Given the description of an element on the screen output the (x, y) to click on. 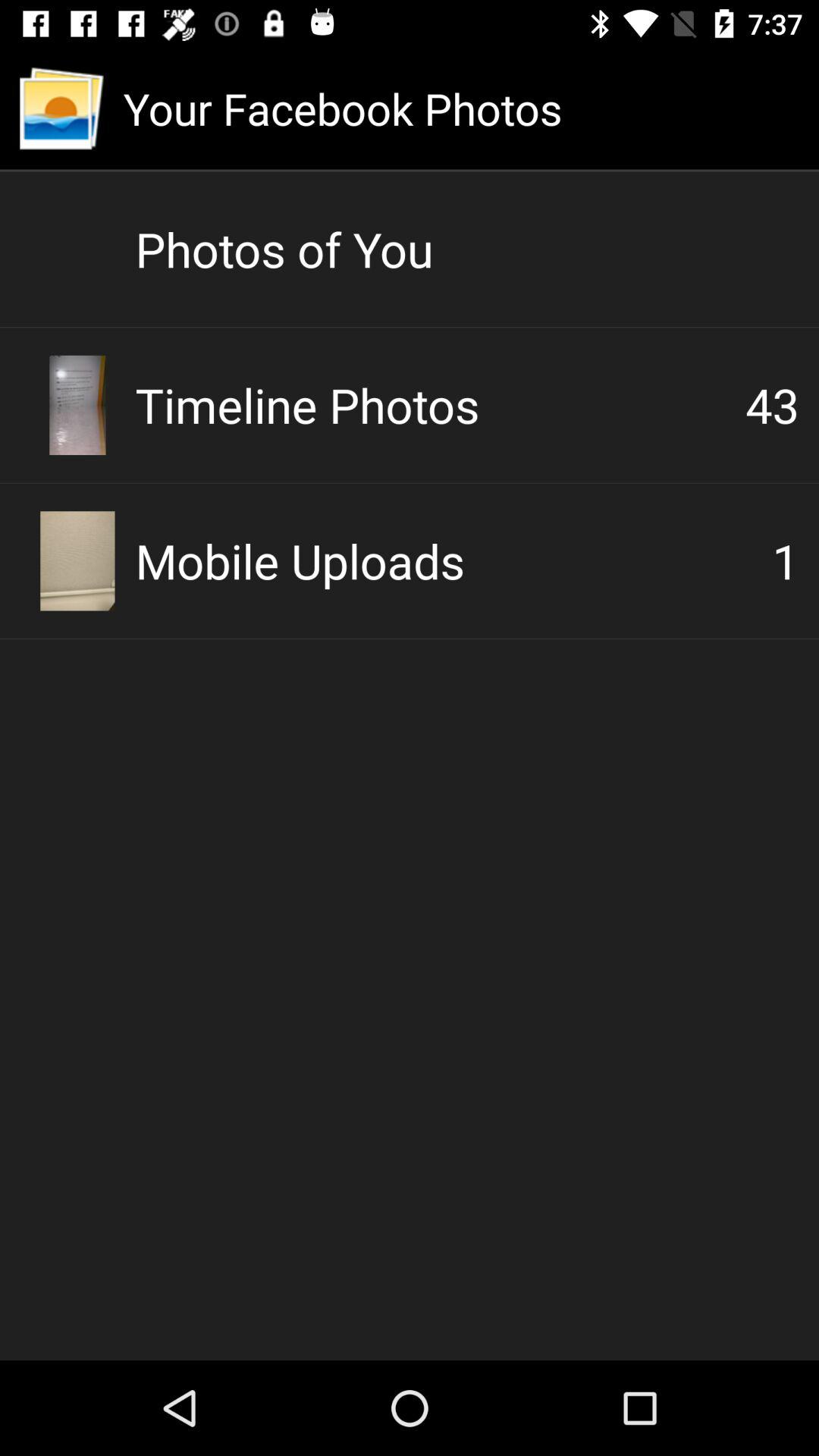
jump until timeline photos item (440, 404)
